Given the description of an element on the screen output the (x, y) to click on. 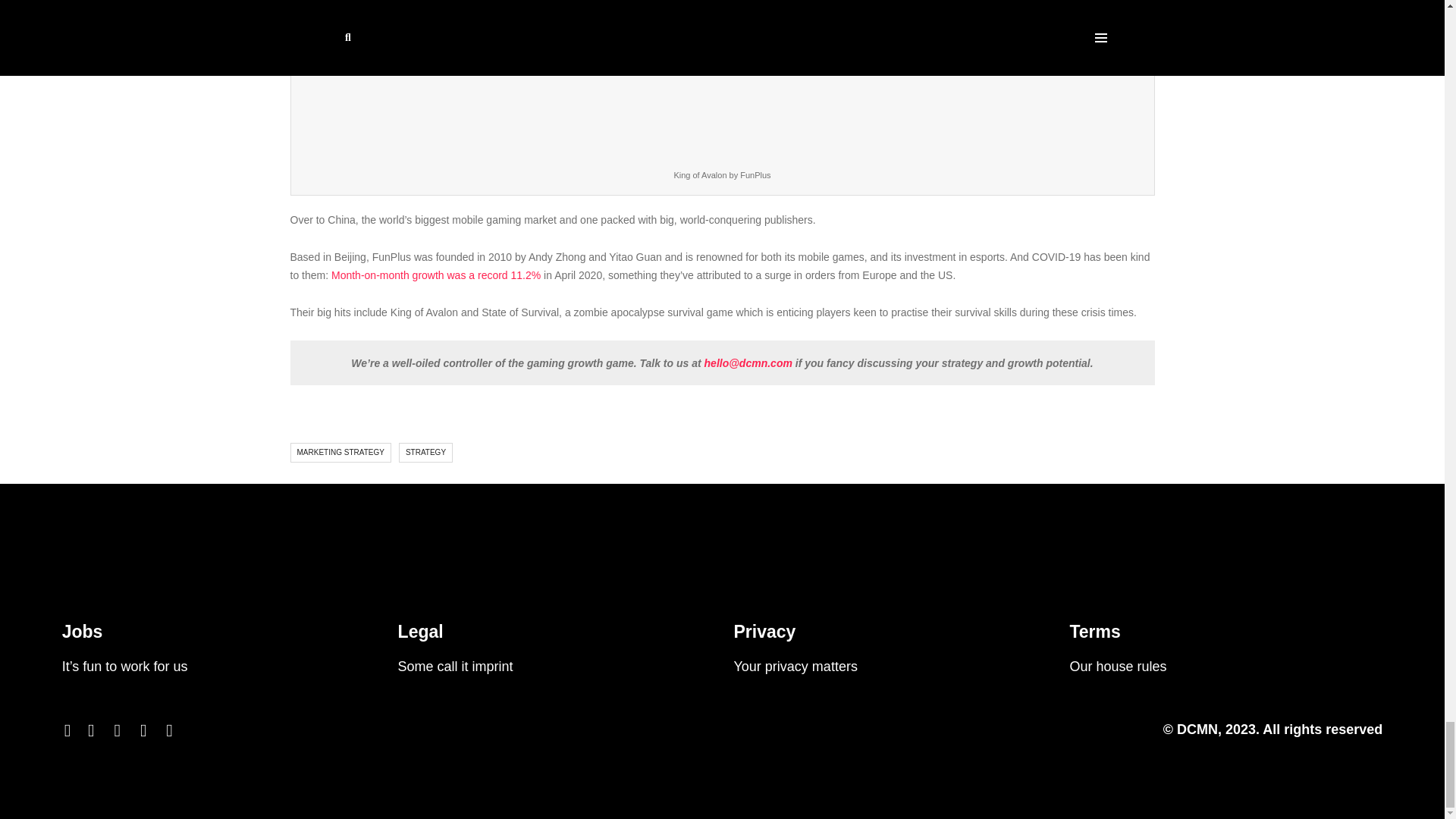
MARKETING STRATEGY (339, 452)
Our house rules (1117, 666)
Your privacy matters (795, 666)
STRATEGY (425, 452)
Some call it imprint (455, 666)
